Given the description of an element on the screen output the (x, y) to click on. 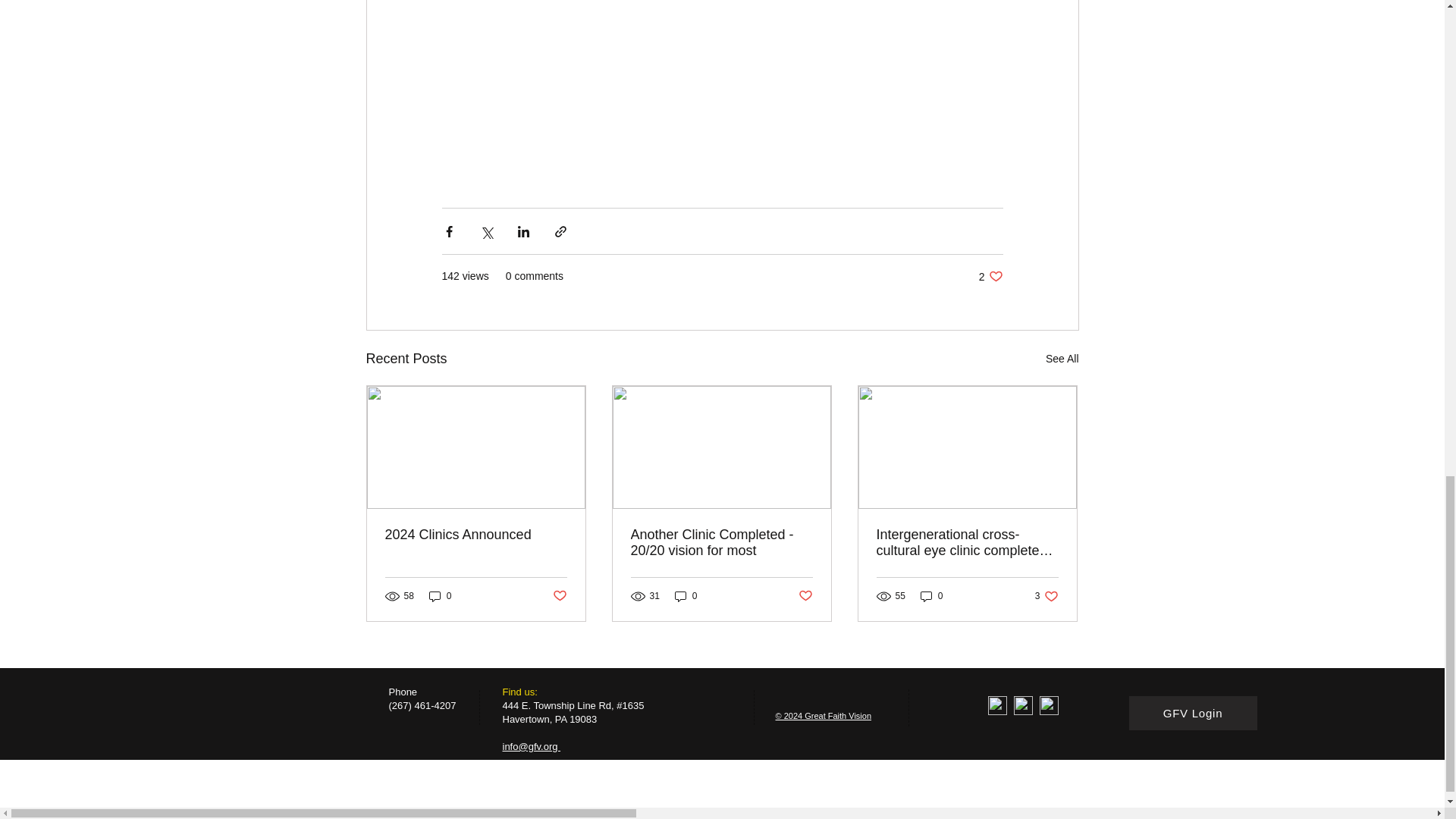
2024 Clinics Announced (476, 534)
Post not marked as liked (990, 276)
0 (558, 596)
See All (440, 595)
